Given the description of an element on the screen output the (x, y) to click on. 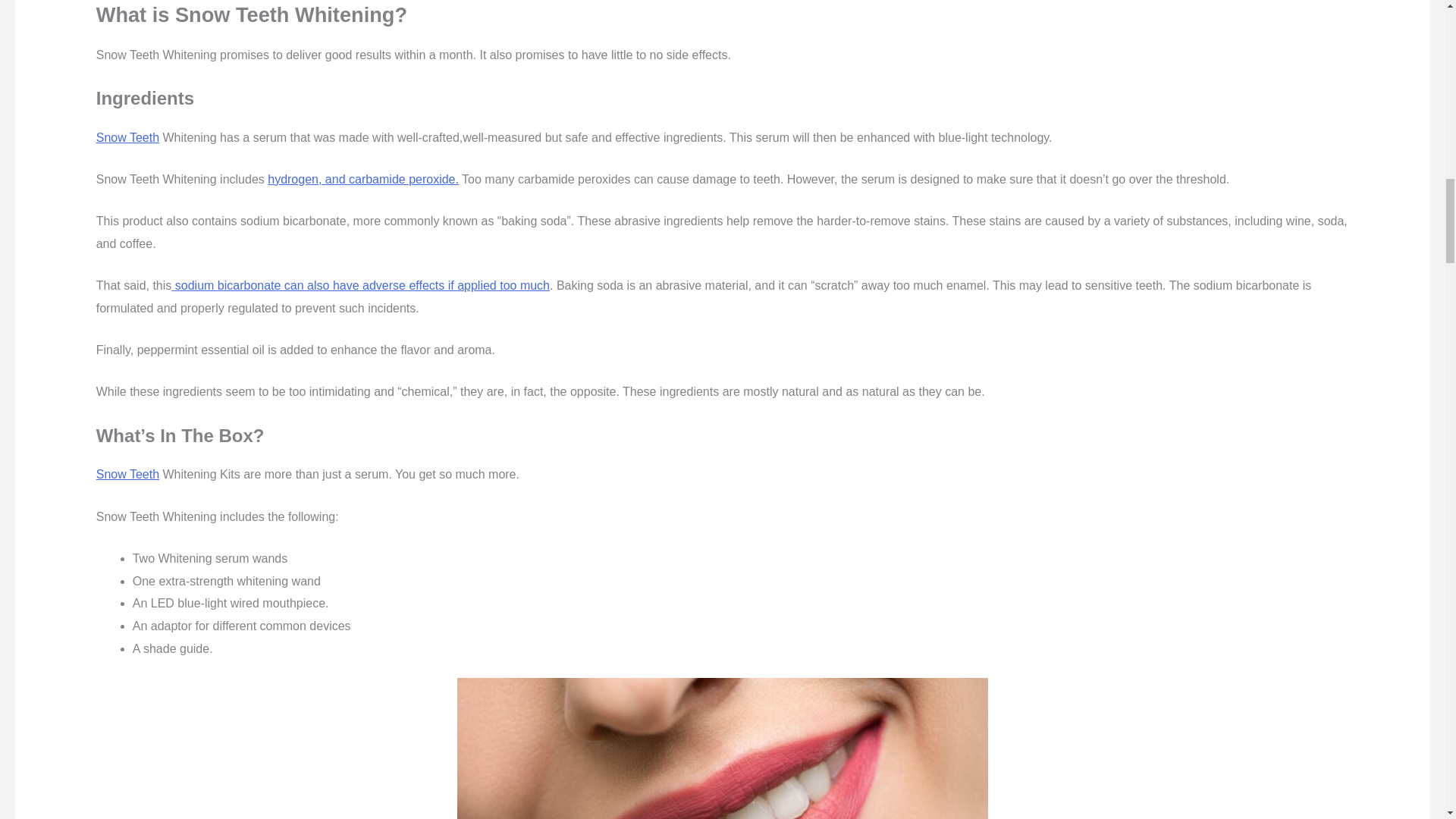
Snow Teeth (127, 473)
Snow Teeth (127, 137)
hydrogen, and carbamide peroxide. (362, 178)
